Given the description of an element on the screen output the (x, y) to click on. 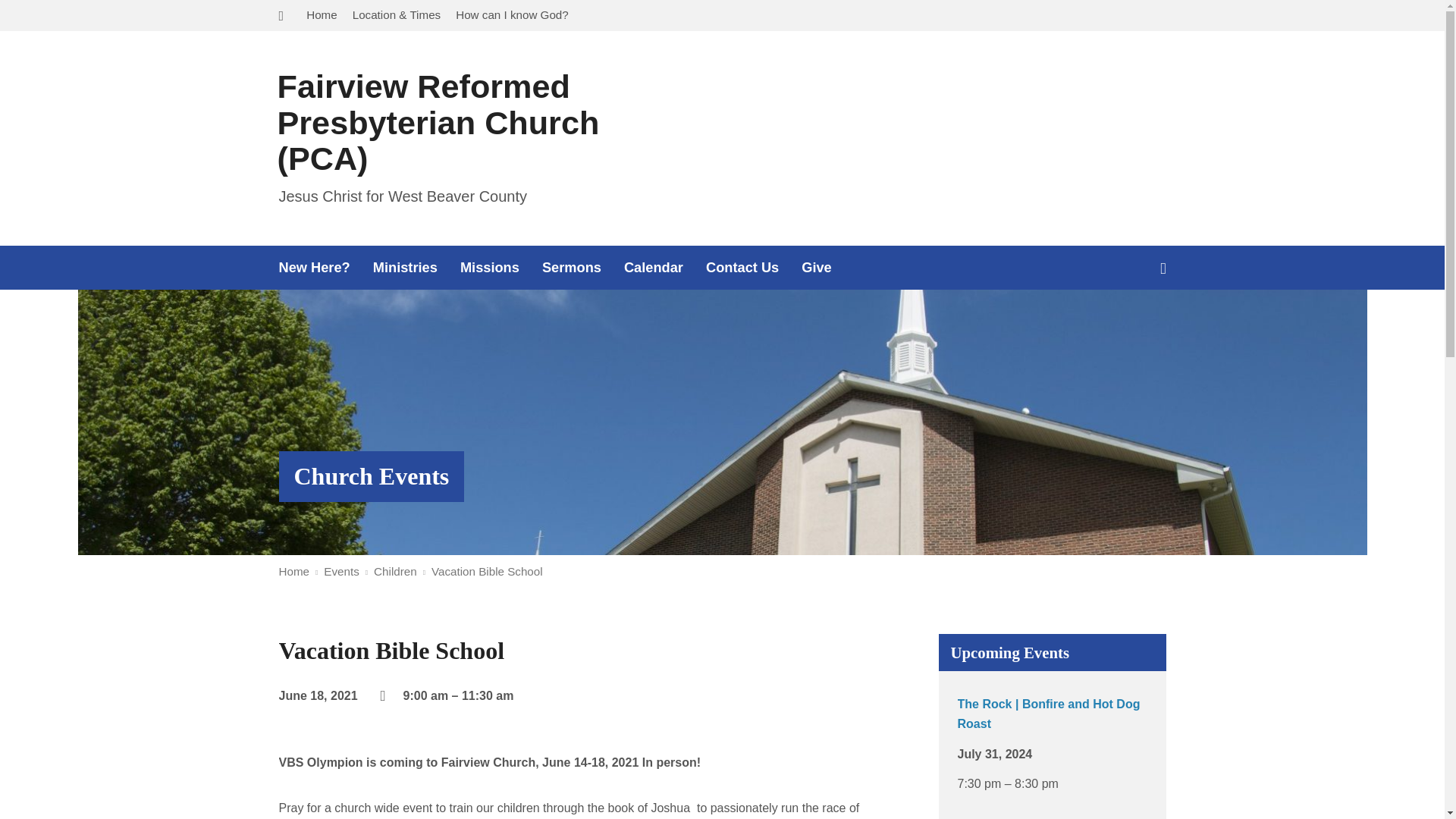
Home (294, 571)
Give (816, 267)
Contact Us (742, 267)
How can I know God? (512, 14)
Events (340, 571)
Ministries (405, 267)
New Here? (314, 267)
Sermons (571, 267)
Church Events (371, 475)
Home (321, 14)
Calendar (653, 267)
Church Events (371, 475)
Missions (489, 267)
